Given the description of an element on the screen output the (x, y) to click on. 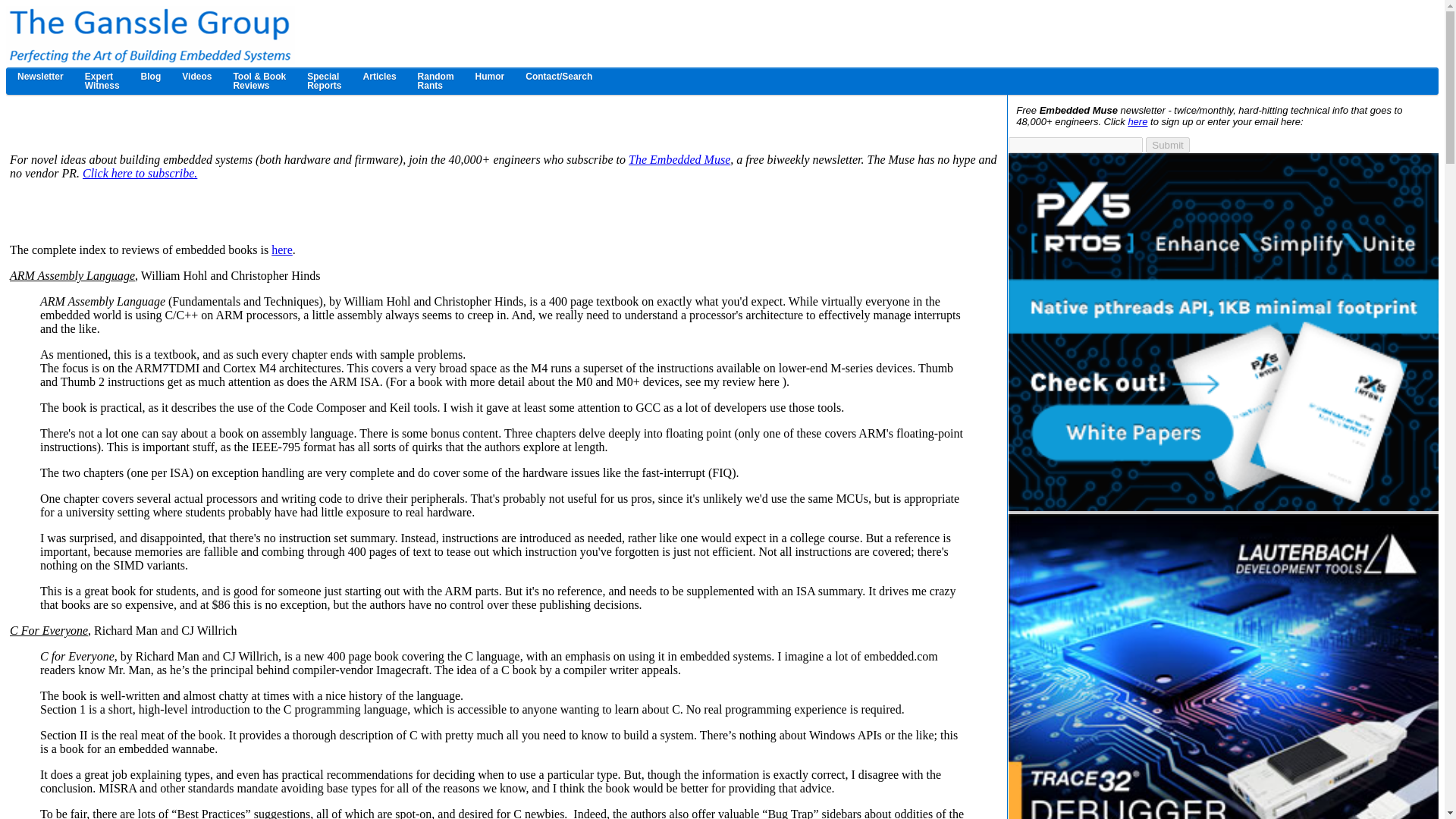
Blog (151, 76)
Videos (196, 76)
Submit (1167, 145)
Articles (102, 80)
Newsletter (324, 80)
